Given the description of an element on the screen output the (x, y) to click on. 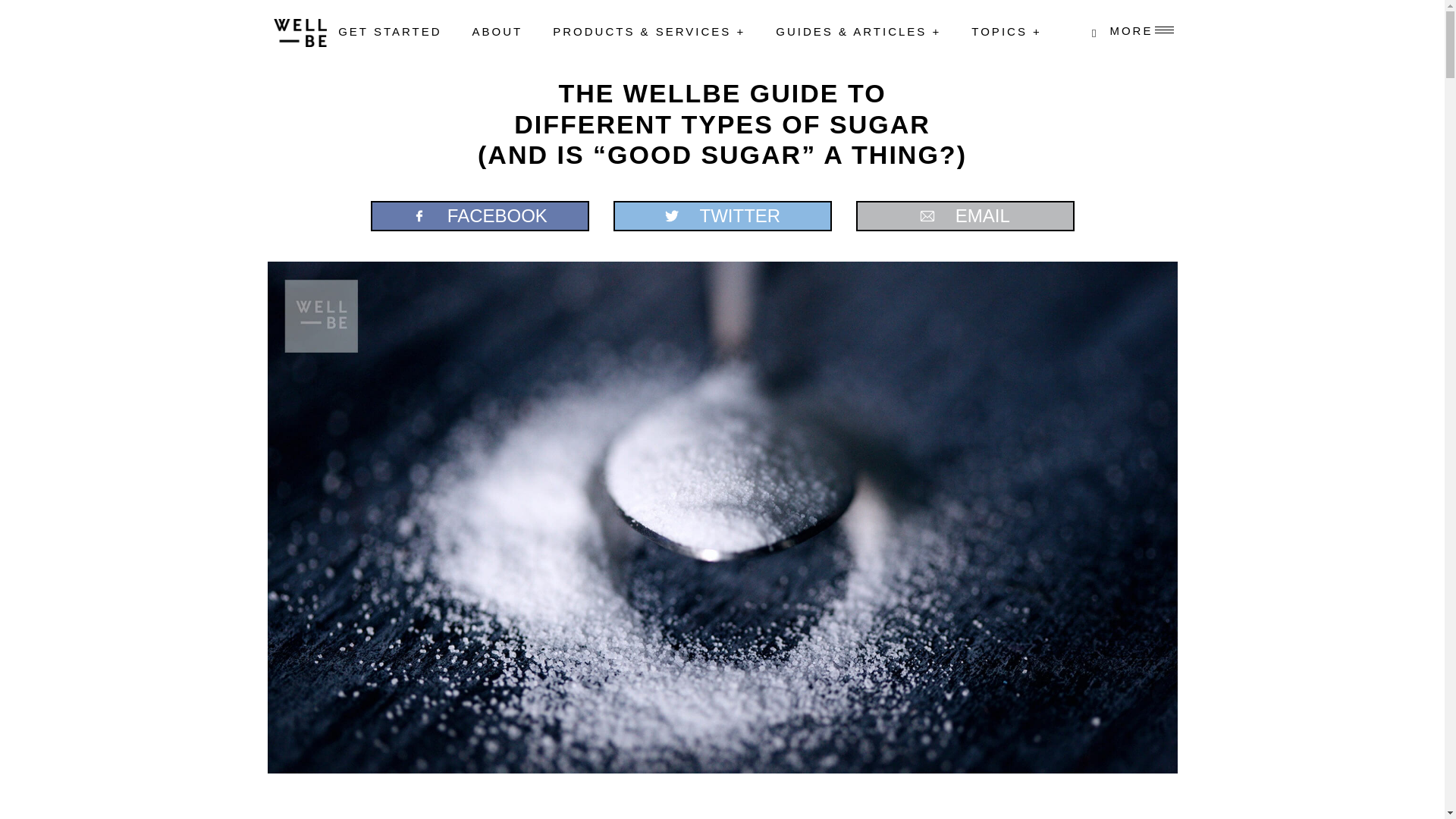
GET STARTED (389, 32)
ABOUT (496, 32)
Share this via Twitter (721, 215)
TOPICS (1006, 32)
Share this via Facebook (478, 215)
